Given the description of an element on the screen output the (x, y) to click on. 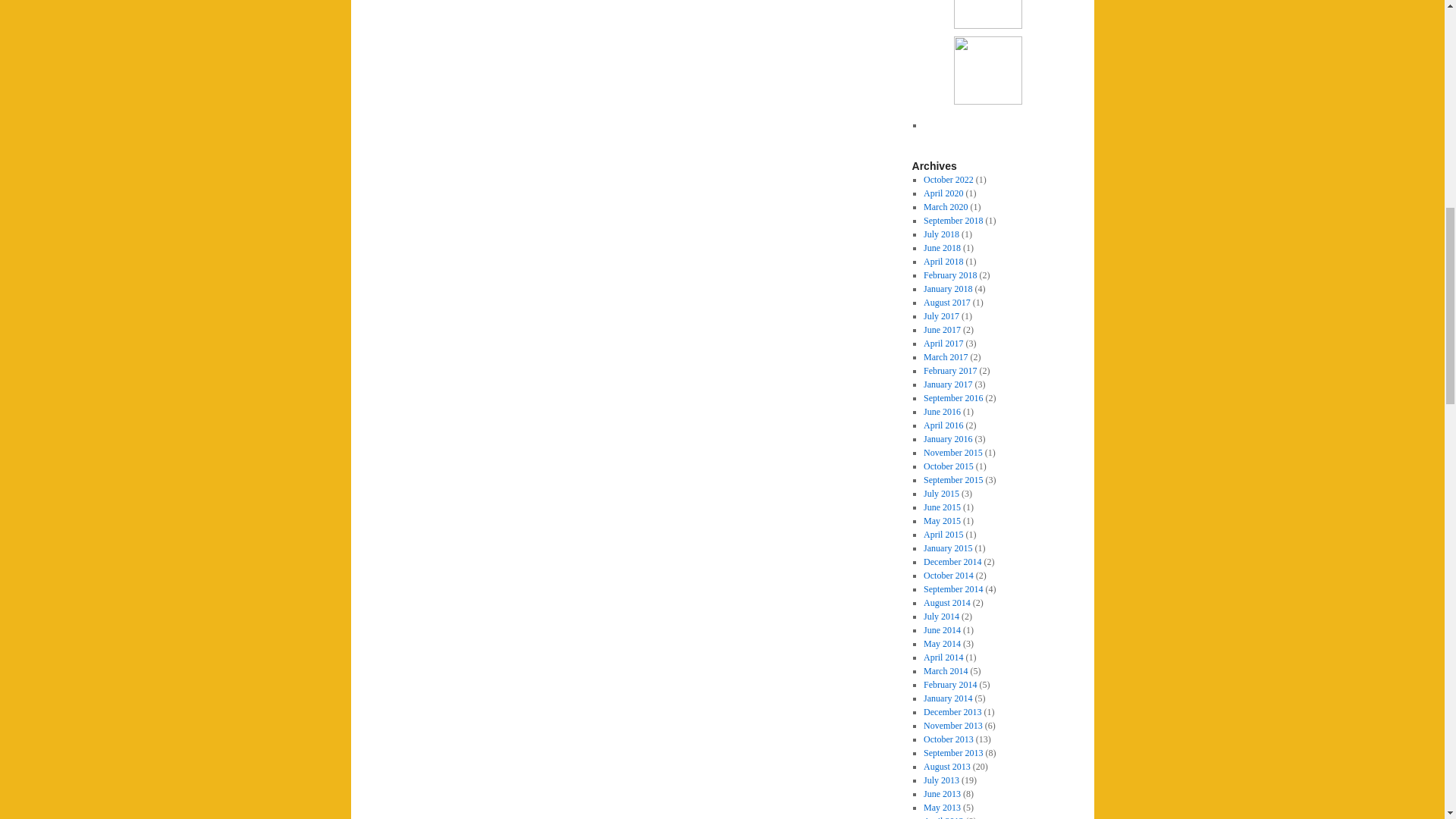
September 2018 (952, 220)
February 2018 (949, 275)
June 2018 (941, 247)
October 2022 (948, 179)
March 2020 (945, 206)
July 2018 (941, 234)
April 2018 (942, 261)
April 2020 (942, 193)
